Given the description of an element on the screen output the (x, y) to click on. 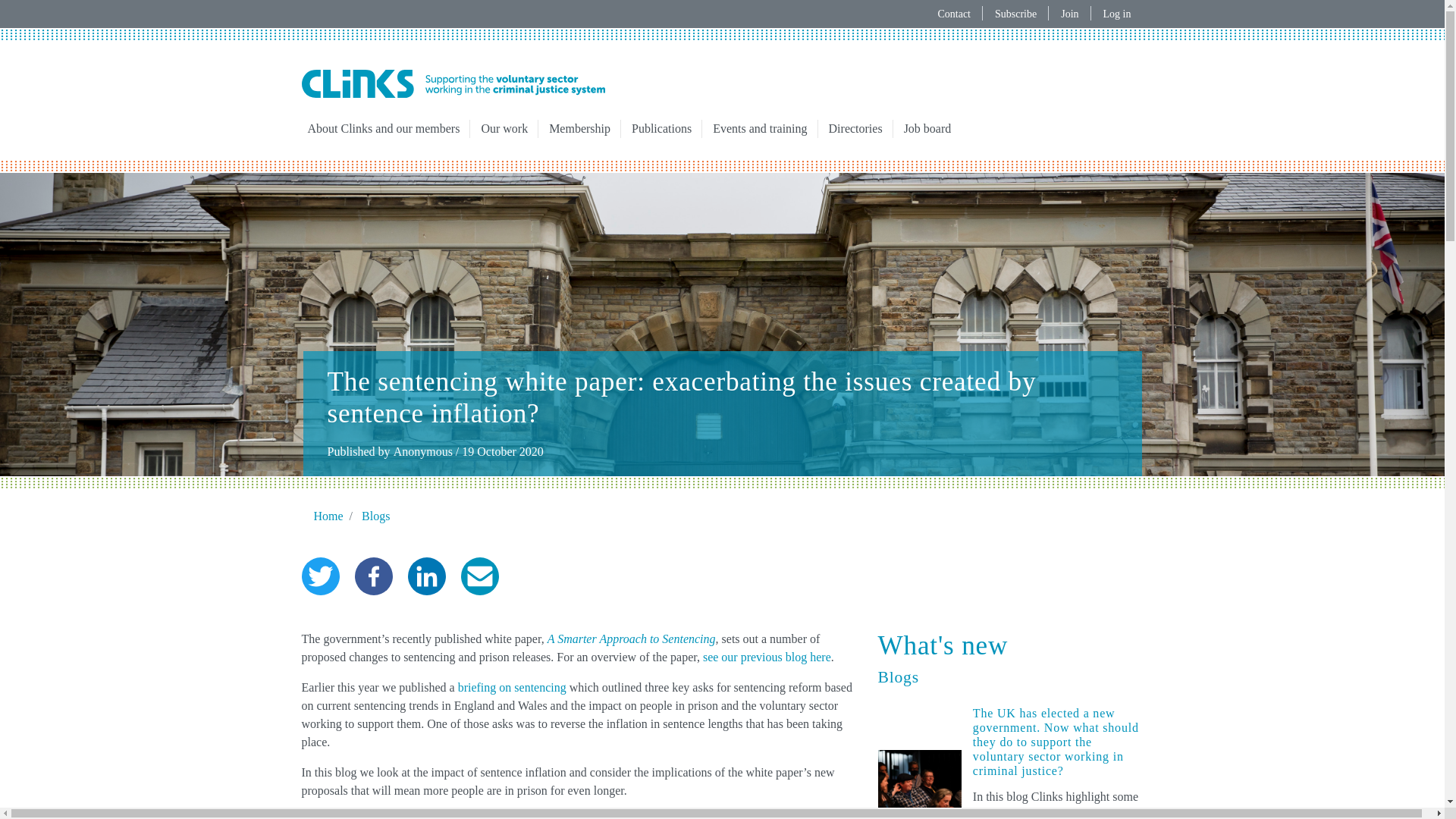
Log in (1116, 13)
Home (453, 83)
here (820, 656)
About Clinks and our members (383, 128)
Events and training (759, 128)
Publications (661, 128)
Join (1069, 13)
Home (328, 515)
Job board (928, 128)
Events listings (759, 128)
Blogs (375, 515)
Contact (953, 13)
see our previous blog (754, 656)
Directories (855, 128)
briefing on sentencing (512, 686)
